Given the description of an element on the screen output the (x, y) to click on. 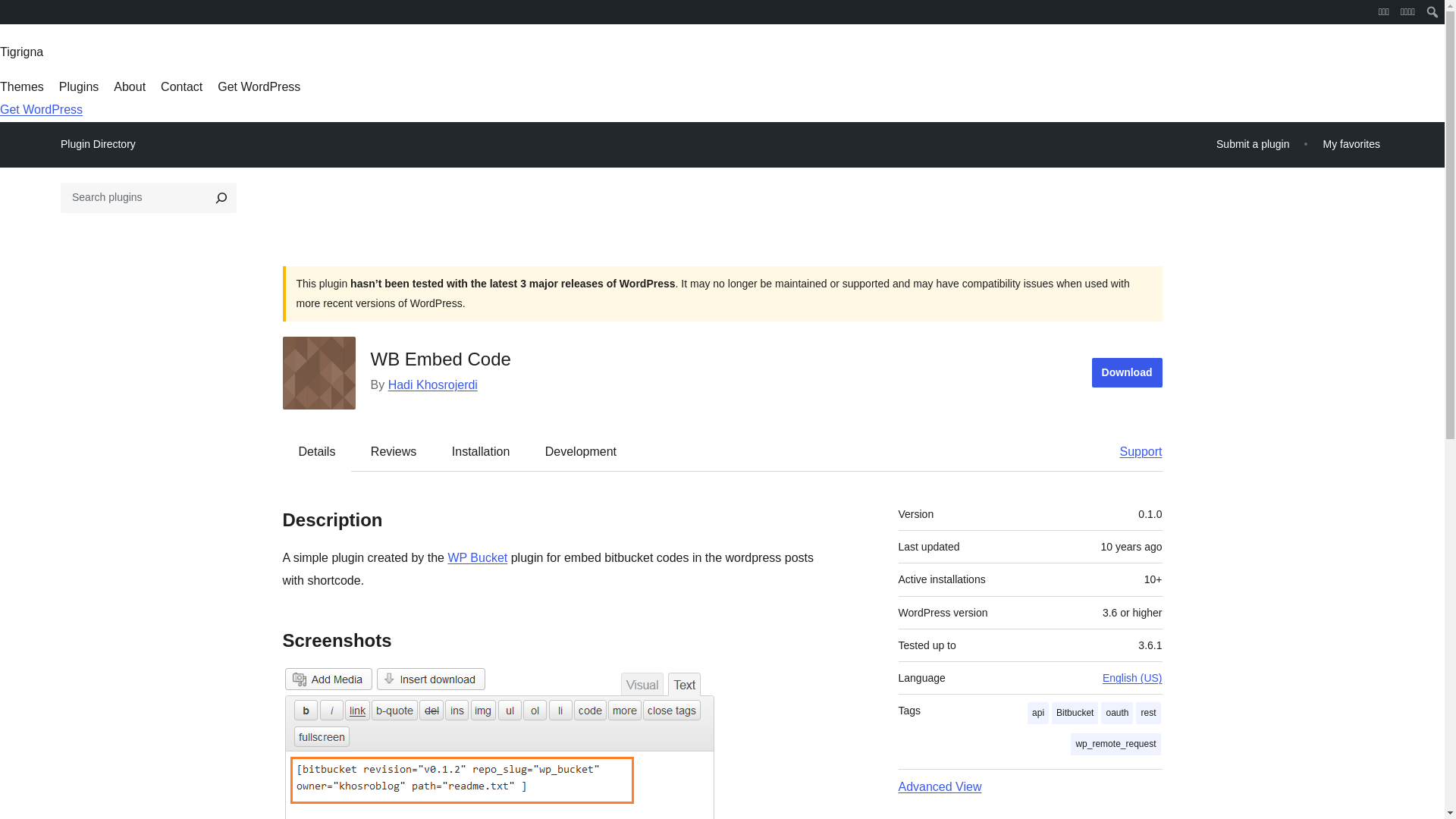
Themes (21, 87)
Get WordPress (41, 109)
Plugins (79, 87)
WP Bucket (476, 557)
Installation (480, 451)
Plugin Directory (97, 143)
About (129, 87)
WordPress.org (10, 16)
Contact (181, 87)
Hadi Khosrojerdi (432, 384)
Download (1126, 372)
Get WordPress (257, 87)
WordPress.org (10, 10)
Reviews (392, 451)
Details (316, 451)
